Given the description of an element on the screen output the (x, y) to click on. 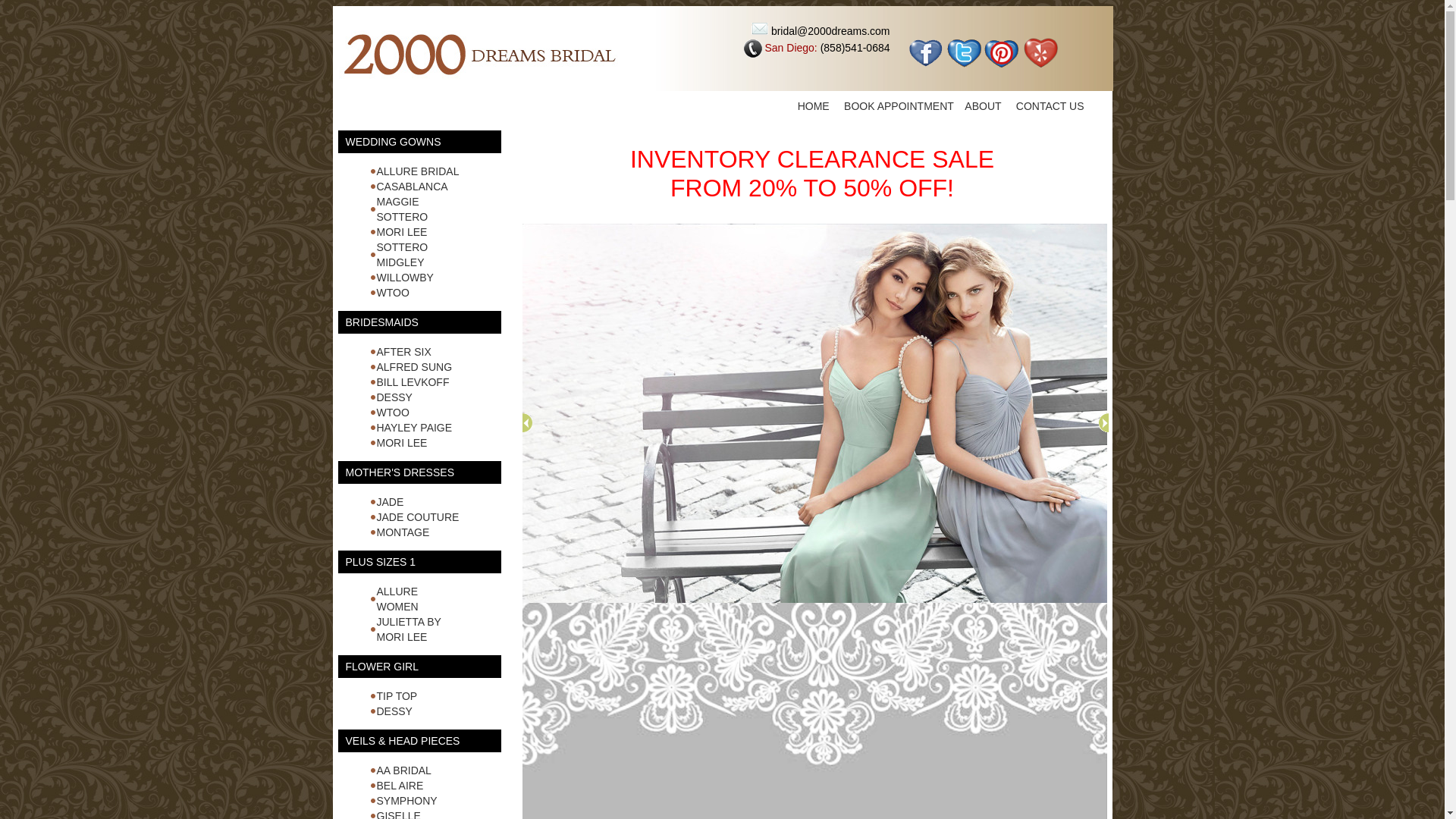
BILL LEVKOFF Element type: text (412, 382)
HOME Element type: text (813, 106)
bridal@2000dreams.com Element type: text (830, 31)
JADE COUTURE Element type: text (417, 517)
BEL AIRE Element type: text (399, 785)
BOOK APPOINTMENT Element type: text (898, 106)
WTOO Element type: text (392, 292)
AA BRIDAL Element type: text (403, 770)
JULIETTA BY MORI LEE Element type: text (408, 629)
MONTAGE Element type: text (402, 532)
TIP TOP Element type: text (396, 696)
JADE Element type: text (389, 501)
CASABLANCA Element type: text (411, 186)
ALFRED SUNG Element type: text (413, 366)
WTOO Element type: text (392, 412)
ALLURE BRIDAL Element type: text (417, 171)
DESSY Element type: text (393, 711)
AFTER SIX Element type: text (403, 351)
HAYLEY PAIGE Element type: text (413, 427)
ABOUT Element type: text (982, 106)
SOTTERO MIDGLEY Element type: text (401, 254)
2000 Dreams Wedding Dresses San Diego Element type: hover (477, 48)
DESSY Element type: text (393, 397)
MAGGIE SOTTERO Element type: text (401, 208)
WILLOWBY Element type: text (404, 277)
MORI LEE Element type: text (401, 442)
ALLURE WOMEN Element type: text (396, 598)
MORI LEE Element type: text (401, 231)
CONTACT US Element type: text (1050, 106)
SYMPHONY Element type: text (406, 800)
